Given the description of an element on the screen output the (x, y) to click on. 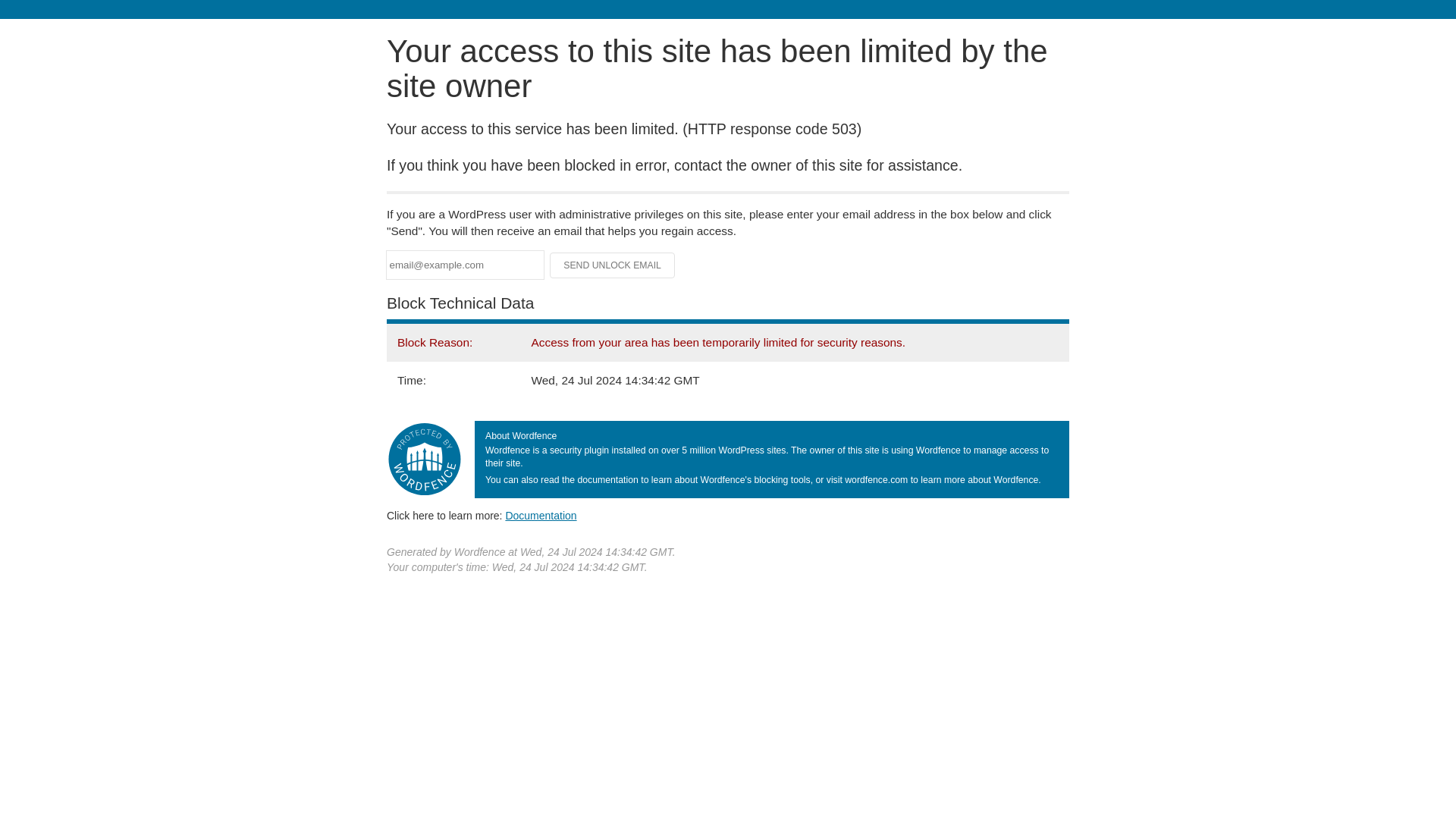
Send Unlock Email (612, 265)
Documentation (540, 515)
Send Unlock Email (612, 265)
